Given the description of an element on the screen output the (x, y) to click on. 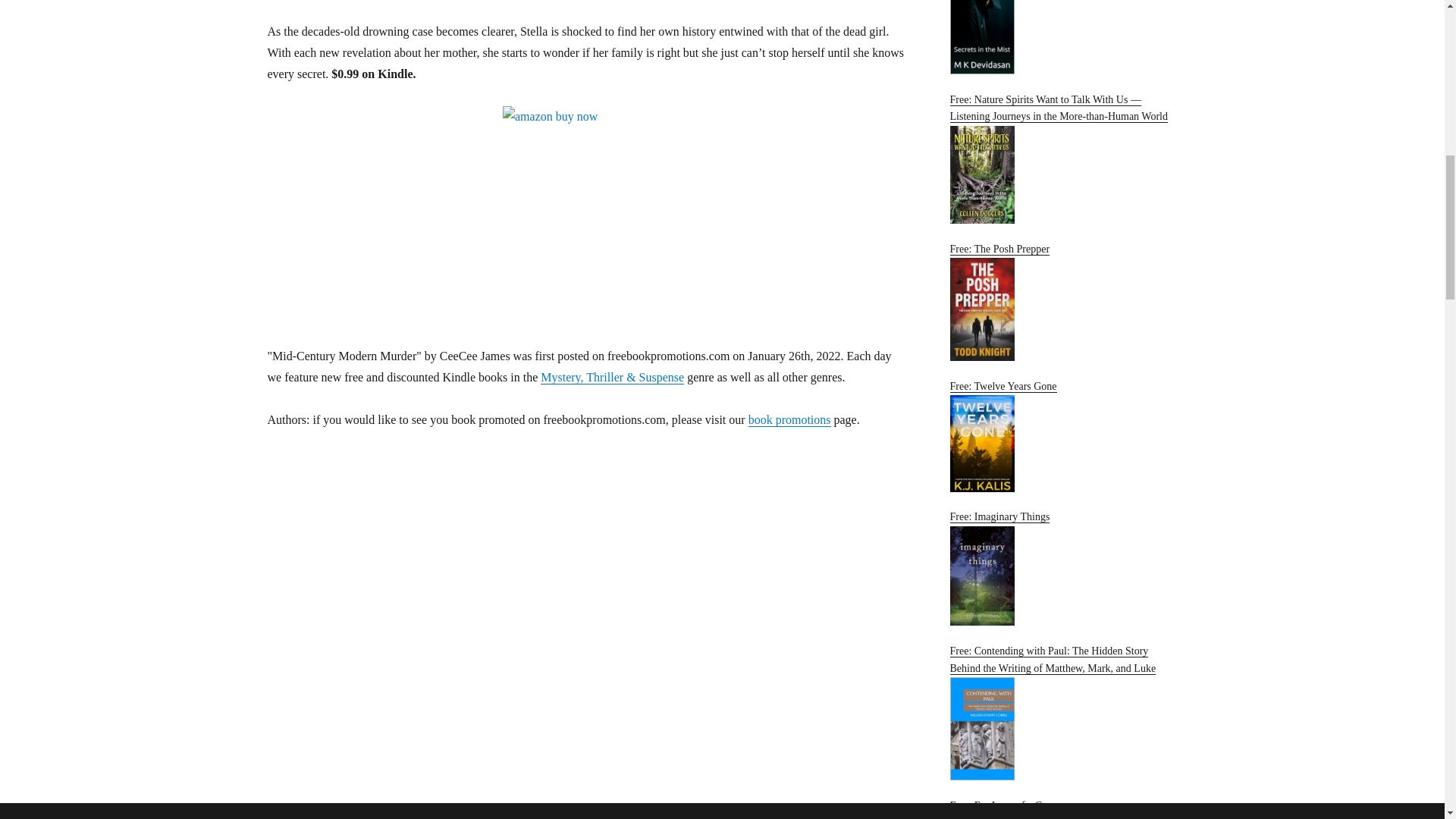
Free: For Love of a Grump (1062, 809)
Free: The Posh Prepper (1062, 302)
Free: Shadows of Betrayal: Secrets in the Mist (1062, 37)
book promotions (789, 419)
Free: Imaginary Things (1062, 568)
Free: Twelve Years Gone (1062, 436)
